Given the description of an element on the screen output the (x, y) to click on. 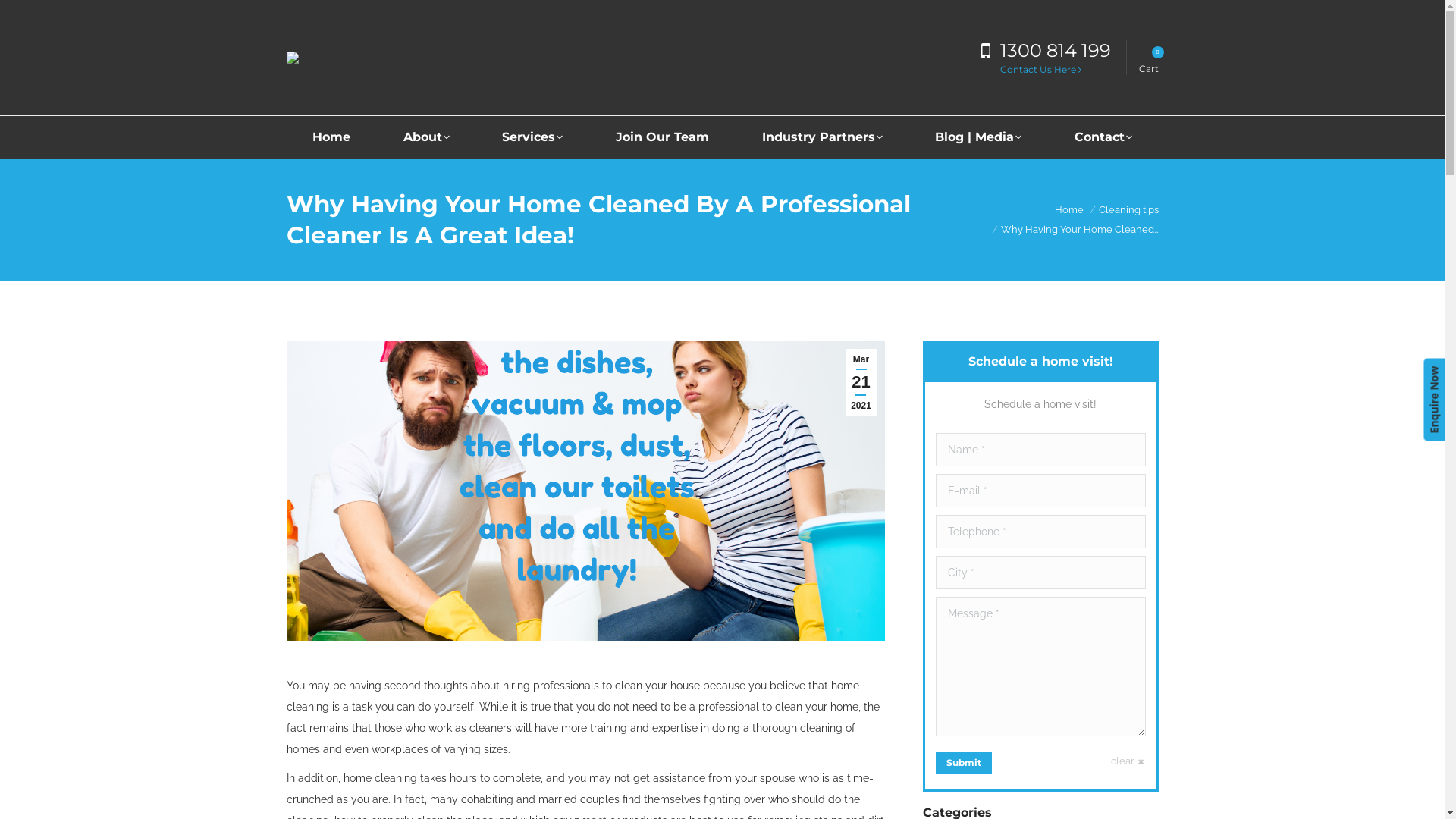
Industry Partners Element type: text (822, 137)
Contact Element type: text (1103, 137)
Post Comment Element type: text (52, 15)
Mar
21
2021 Element type: text (860, 382)
About Element type: text (426, 137)
clear Element type: text (1127, 761)
Home Element type: text (1068, 209)
Blog | Media Element type: text (978, 137)
submit Element type: text (1029, 767)
Cleaning tips Element type: text (1127, 209)
Home Element type: text (331, 137)
Contact Us Here Element type: text (1039, 69)
Submit Element type: text (963, 762)
Cart
0 Element type: text (1148, 57)
Join Our Team Element type: text (662, 137)
Services Element type: text (532, 137)
